Given the description of an element on the screen output the (x, y) to click on. 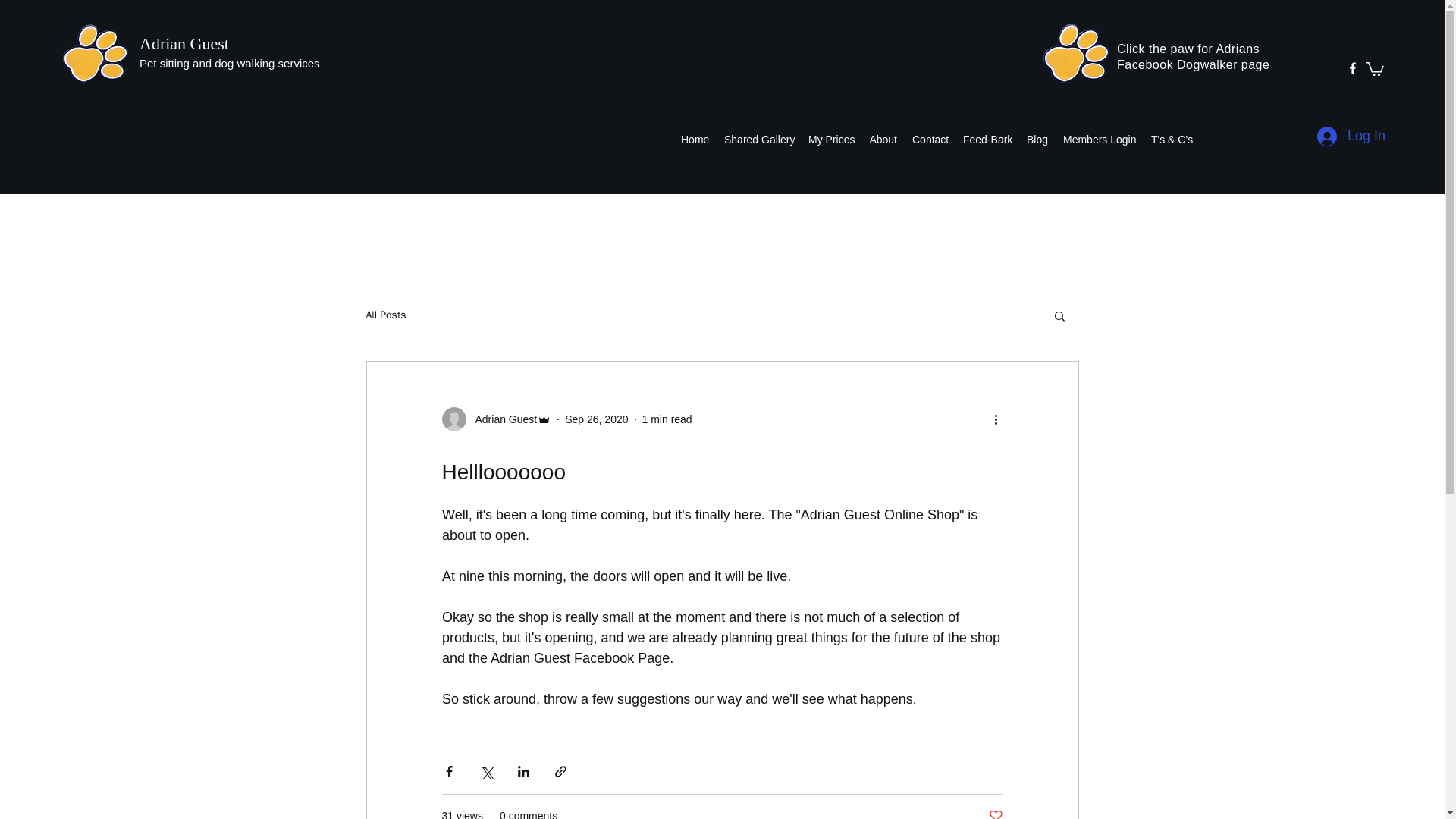
1 min read (667, 419)
Home (694, 138)
Log In (1351, 136)
Sep 26, 2020 (595, 419)
Members Login (1098, 138)
My Prices (830, 138)
Adrian Guest (496, 419)
About (882, 138)
Contact (929, 138)
Feed-Bark (987, 138)
Adrian Guest (183, 43)
Shared Gallery (758, 138)
Post not marked as liked (995, 813)
All Posts (385, 315)
Blog (1037, 138)
